Given the description of an element on the screen output the (x, y) to click on. 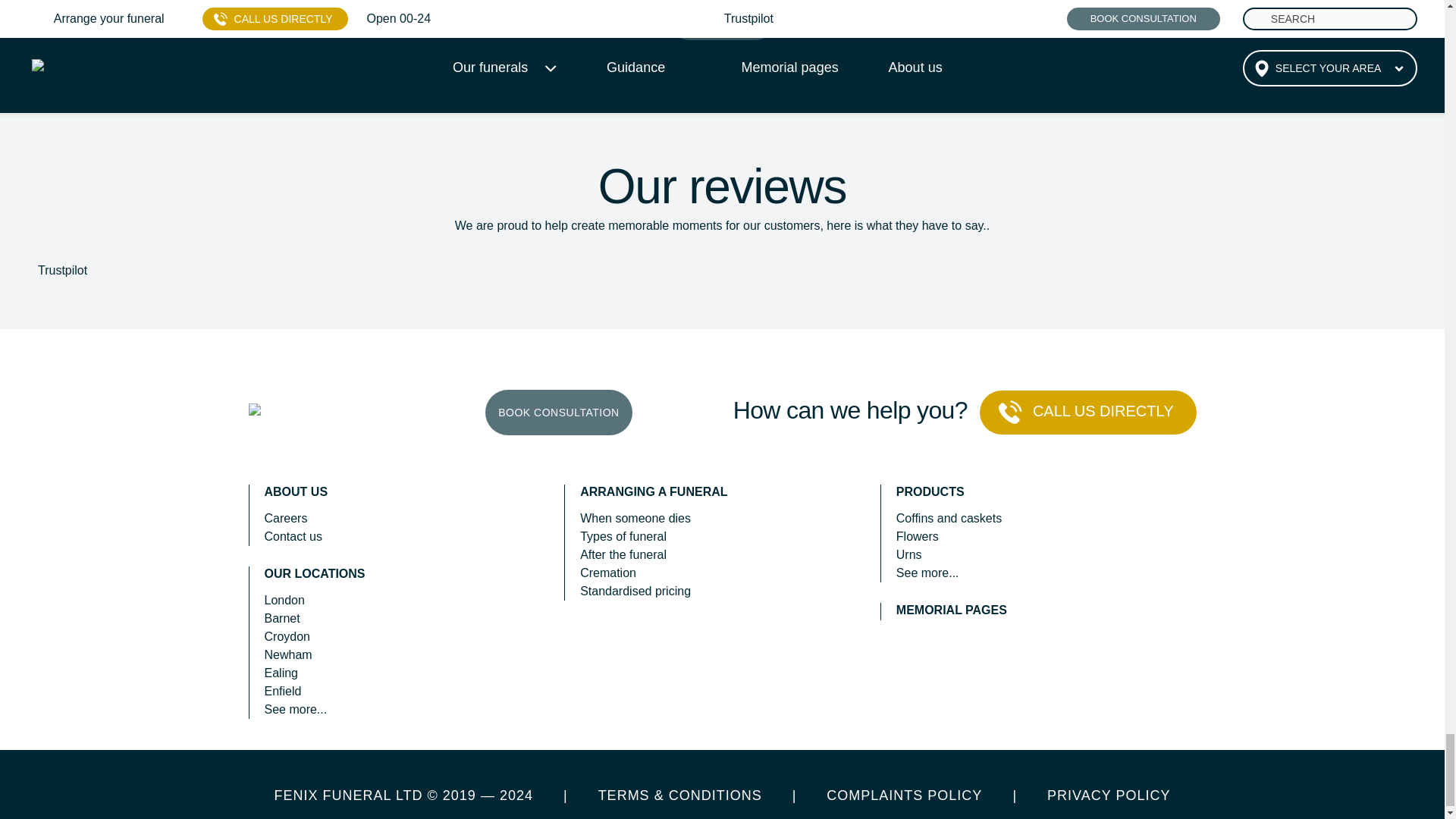
Book consultation (557, 411)
